Given the description of an element on the screen output the (x, y) to click on. 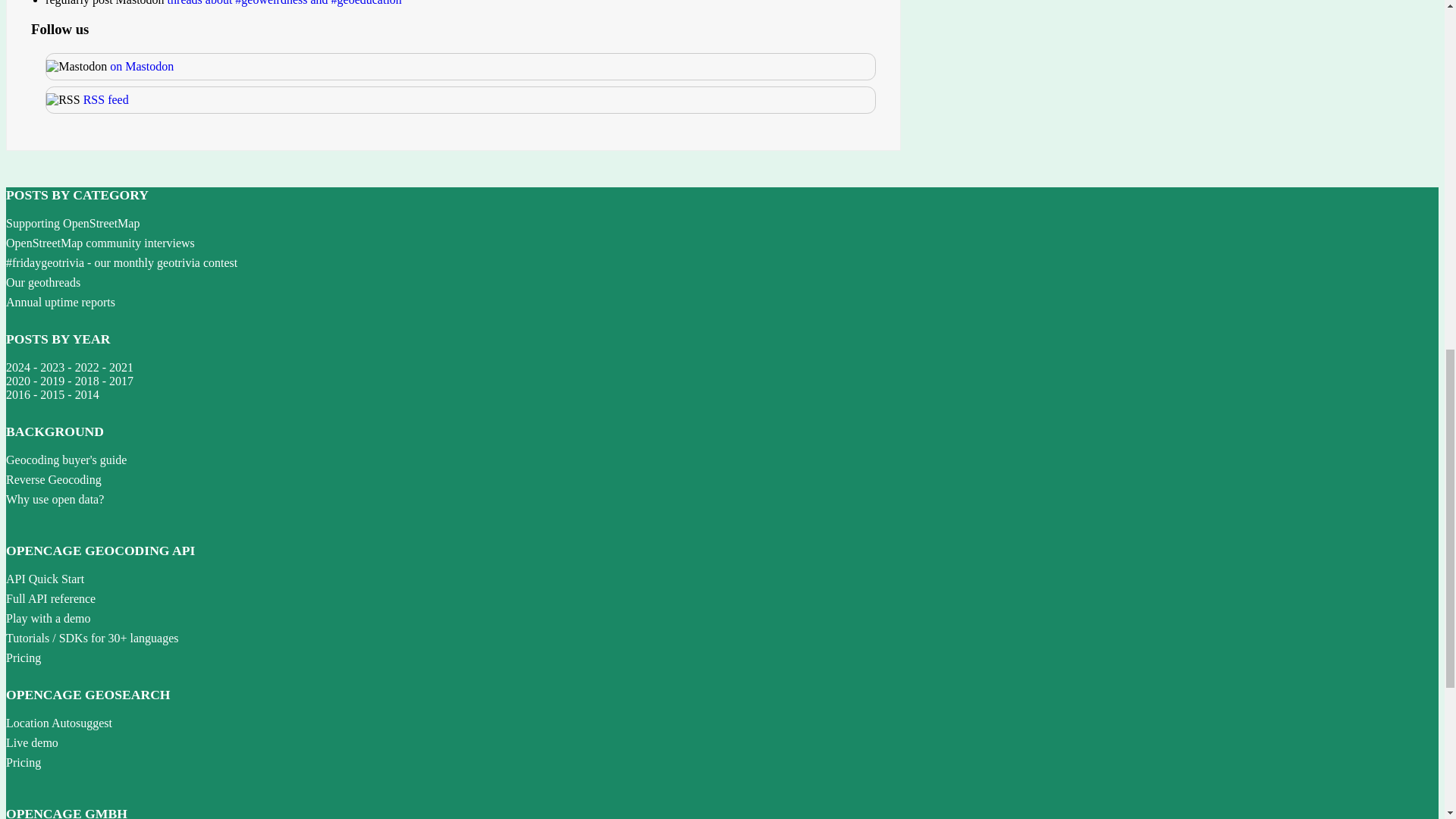
RSS feed (105, 99)
2018 (87, 380)
2014 (87, 394)
Our geothreads (42, 282)
2024 (17, 367)
Full API reference (50, 598)
Tutorials (27, 637)
OpenStreetMap community interviews (100, 242)
Pricing (22, 657)
Geocoding buyer's guide (65, 459)
on Mastodon (141, 65)
Reverse Geocoding (53, 479)
2019 (52, 380)
Play with a demo (47, 617)
2022 (87, 367)
